Given the description of an element on the screen output the (x, y) to click on. 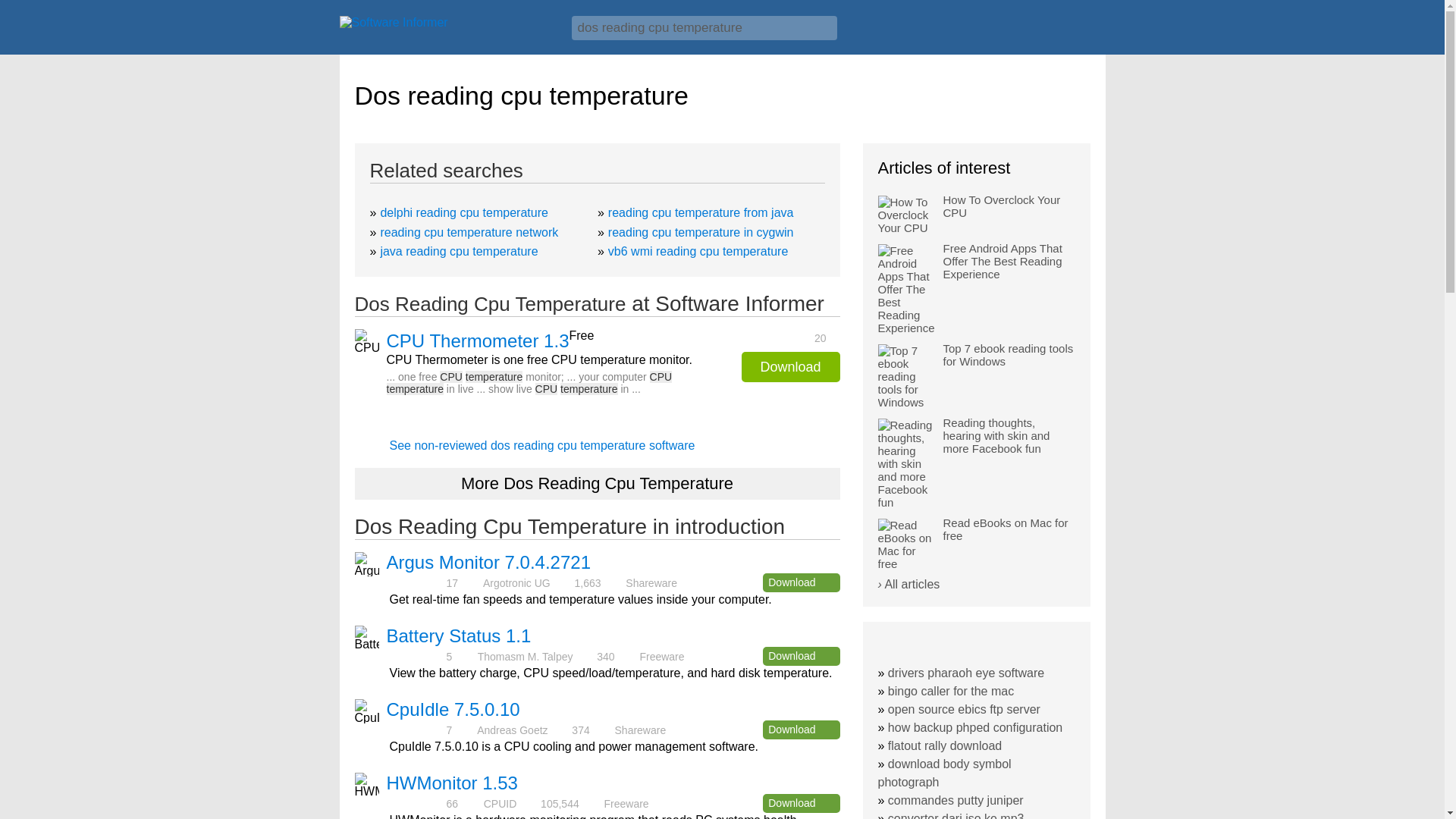
vb6 wmi reading cpu temperature (697, 250)
Battery Status 1.1 (459, 635)
reading cpu temperature from java (700, 212)
Argus Monitor 7.0.4.2721 (489, 562)
reading cpu temperature in cygwin (700, 232)
See non-reviewed dos reading cpu temperature software (542, 445)
3.8 (415, 803)
Download (801, 656)
CPU Thermometer 1.3 (478, 340)
Download (801, 803)
Argus Monitor 7.0.4.2721 (489, 562)
3.3 (415, 729)
20 votes (785, 336)
